Given the description of an element on the screen output the (x, y) to click on. 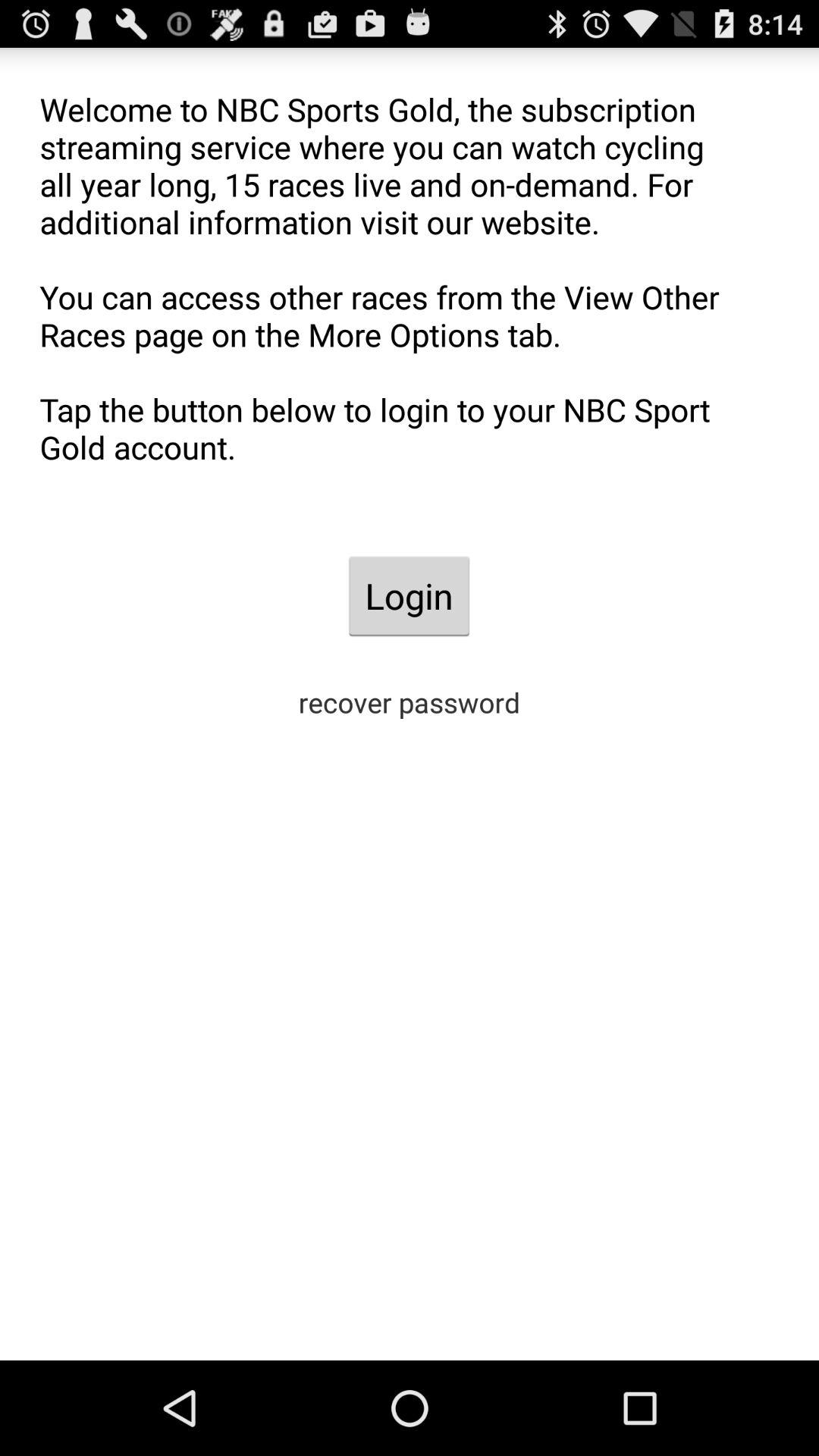
launch the login button (409, 595)
